Given the description of an element on the screen output the (x, y) to click on. 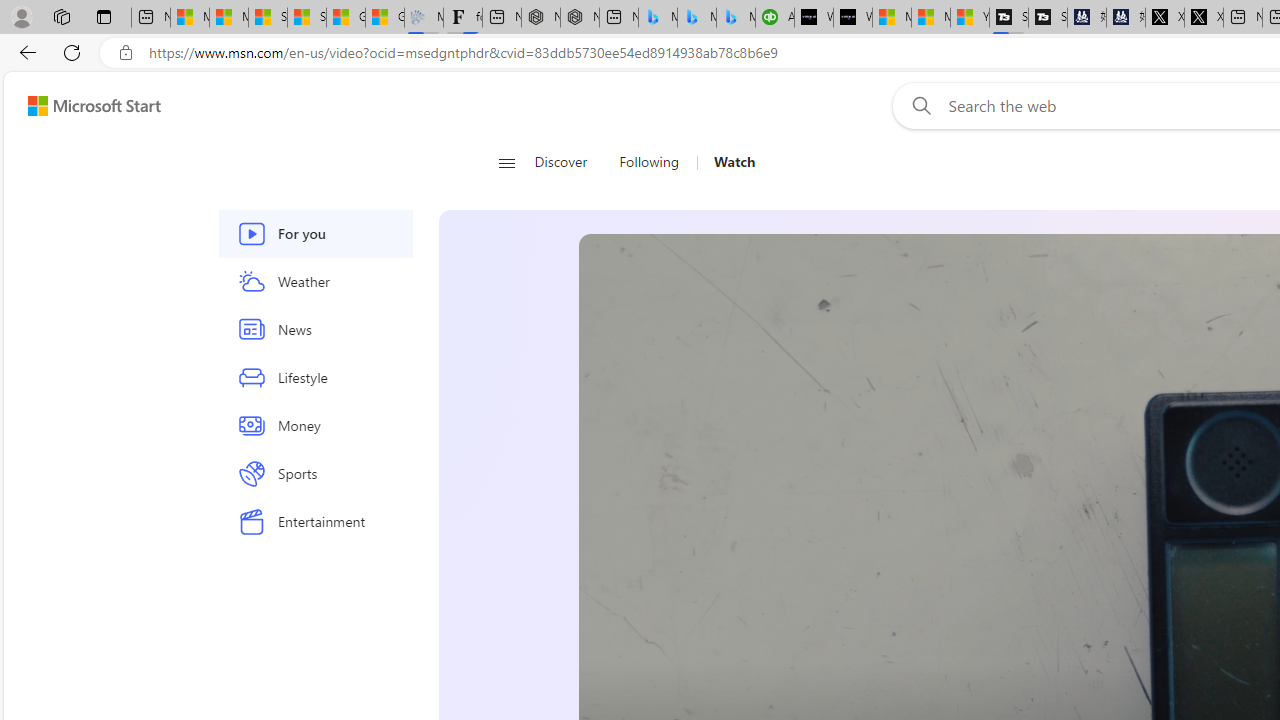
Web search (917, 105)
Open navigation menu (506, 162)
